Given the description of an element on the screen output the (x, y) to click on. 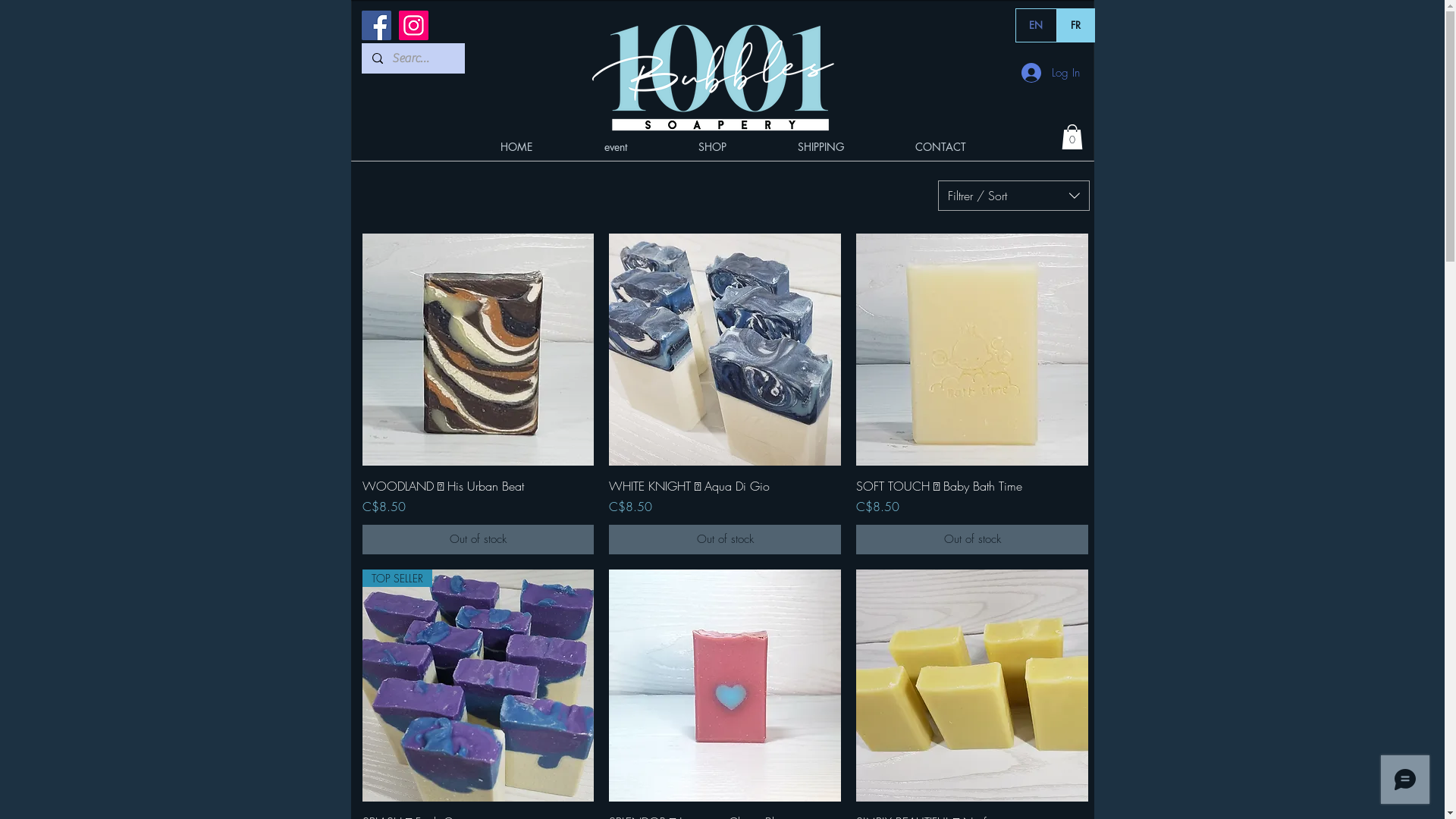
Log In Element type: text (1049, 72)
Out of stock Element type: text (478, 539)
Filtrer / Sort Element type: text (1012, 195)
SHIPPING Element type: text (819, 147)
TOP SELLER Element type: text (478, 685)
Out of stock Element type: text (972, 539)
HOME Element type: text (515, 147)
EN Element type: text (1036, 25)
Profile Monochrome Transparent Logo ENG. Element type: hover (711, 74)
event Element type: text (615, 147)
CONTACT Element type: text (940, 147)
Out of stock Element type: text (724, 539)
FR Element type: text (1075, 25)
0 Element type: text (1071, 136)
